Given the description of an element on the screen output the (x, y) to click on. 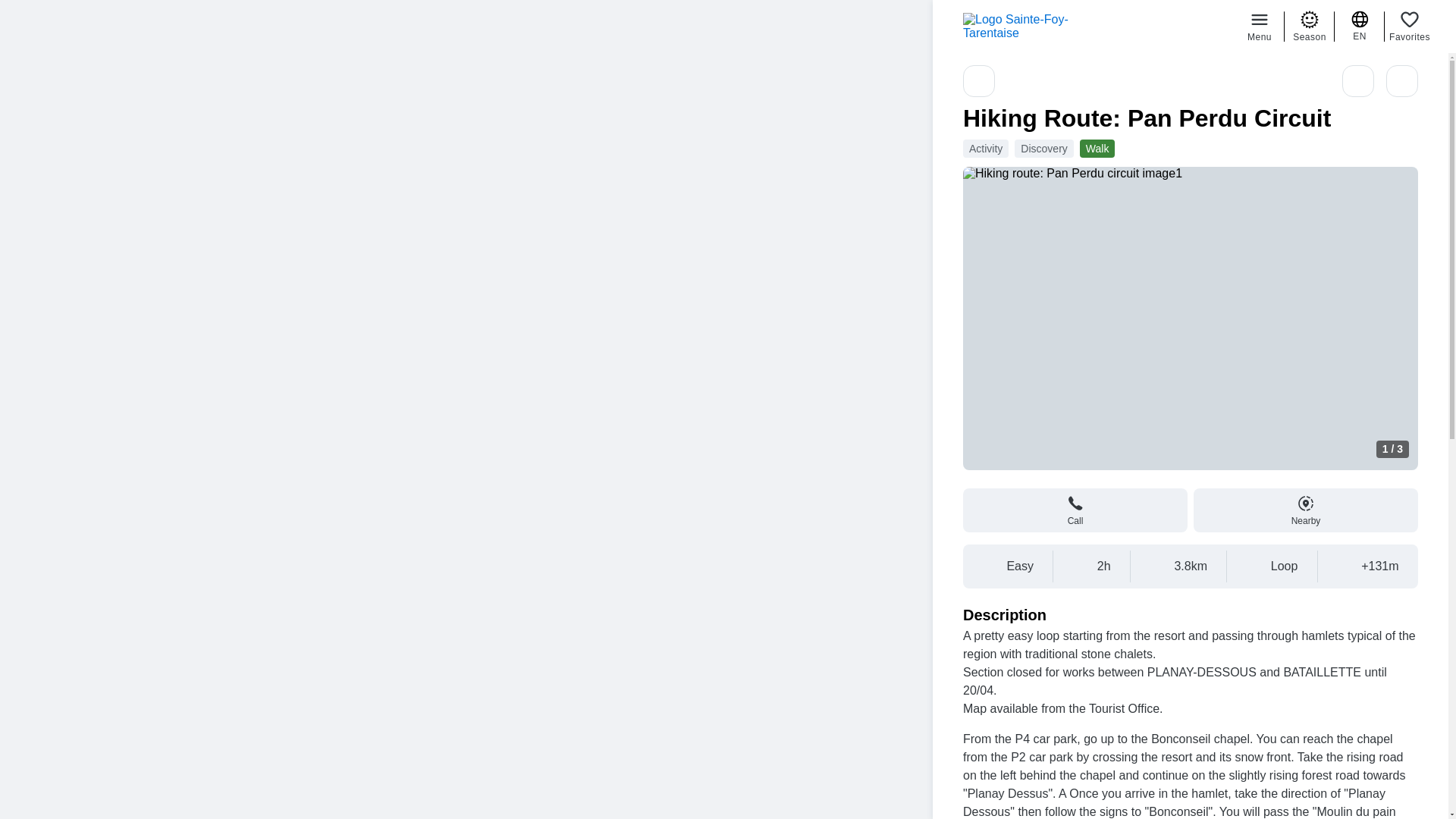
EN (1359, 26)
Call (1075, 510)
Walk (1097, 148)
Favorites (1409, 26)
Nearby (1305, 510)
Menu (1259, 26)
Season (1309, 26)
Activity (986, 148)
Discovery (1043, 148)
